Given the description of an element on the screen output the (x, y) to click on. 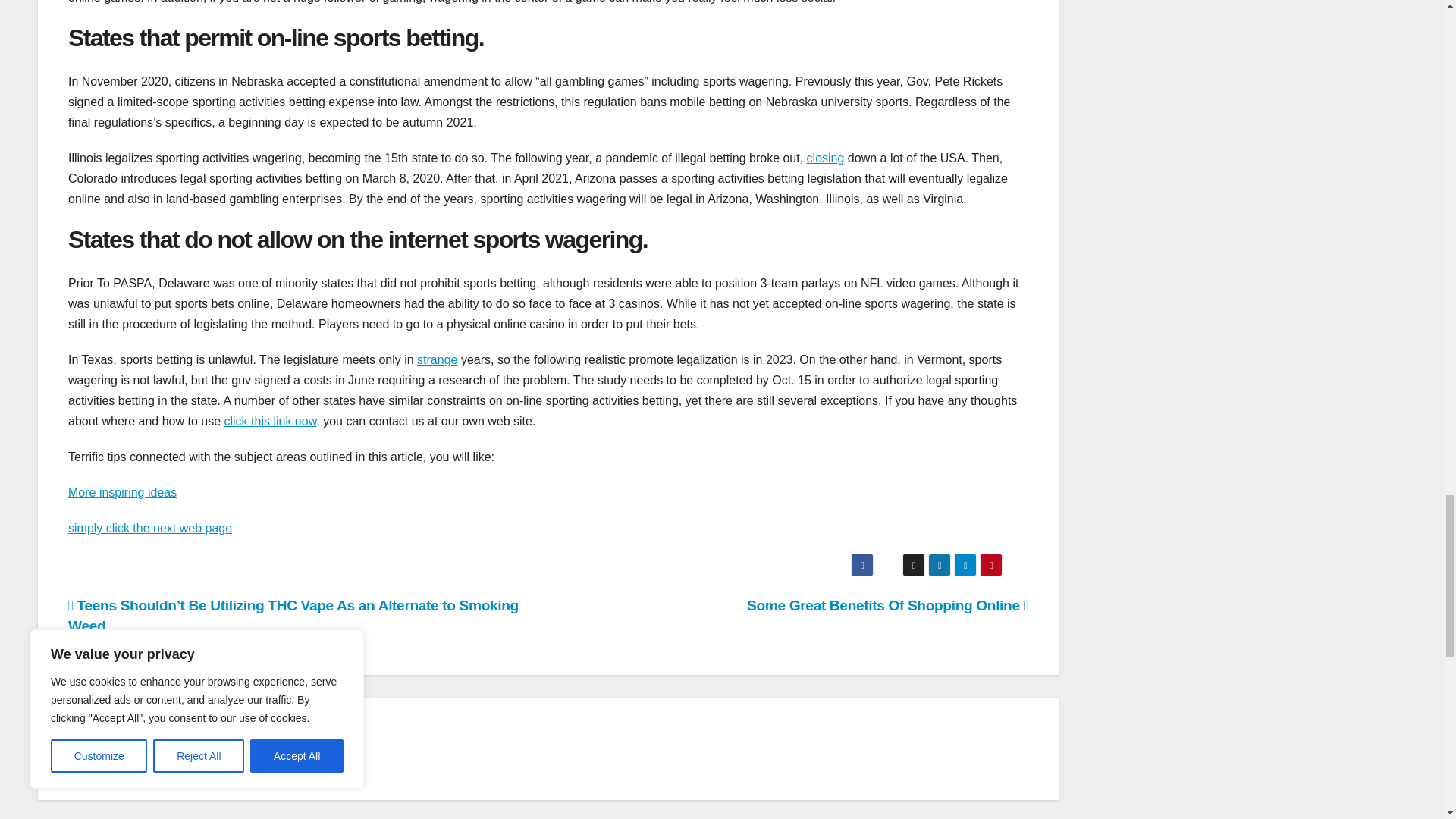
simply click the next web page (149, 527)
More inspiring ideas (122, 492)
click this link now (269, 420)
strange (436, 359)
closing (825, 157)
